Given the description of an element on the screen output the (x, y) to click on. 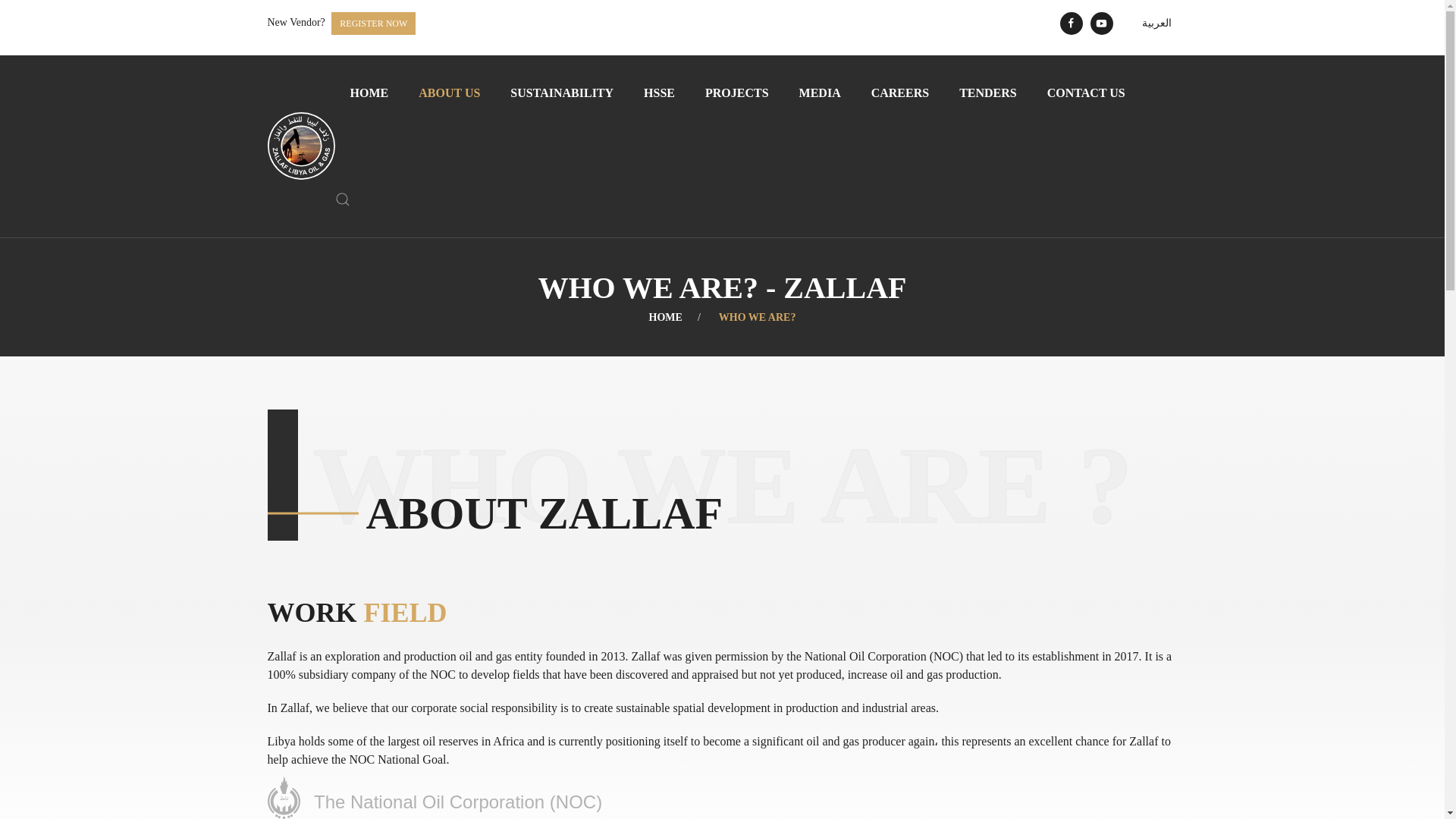
ABOUT US (449, 93)
SUSTAINABILITY (561, 93)
REGISTER NOW (372, 23)
HOME (369, 93)
